Given the description of an element on the screen output the (x, y) to click on. 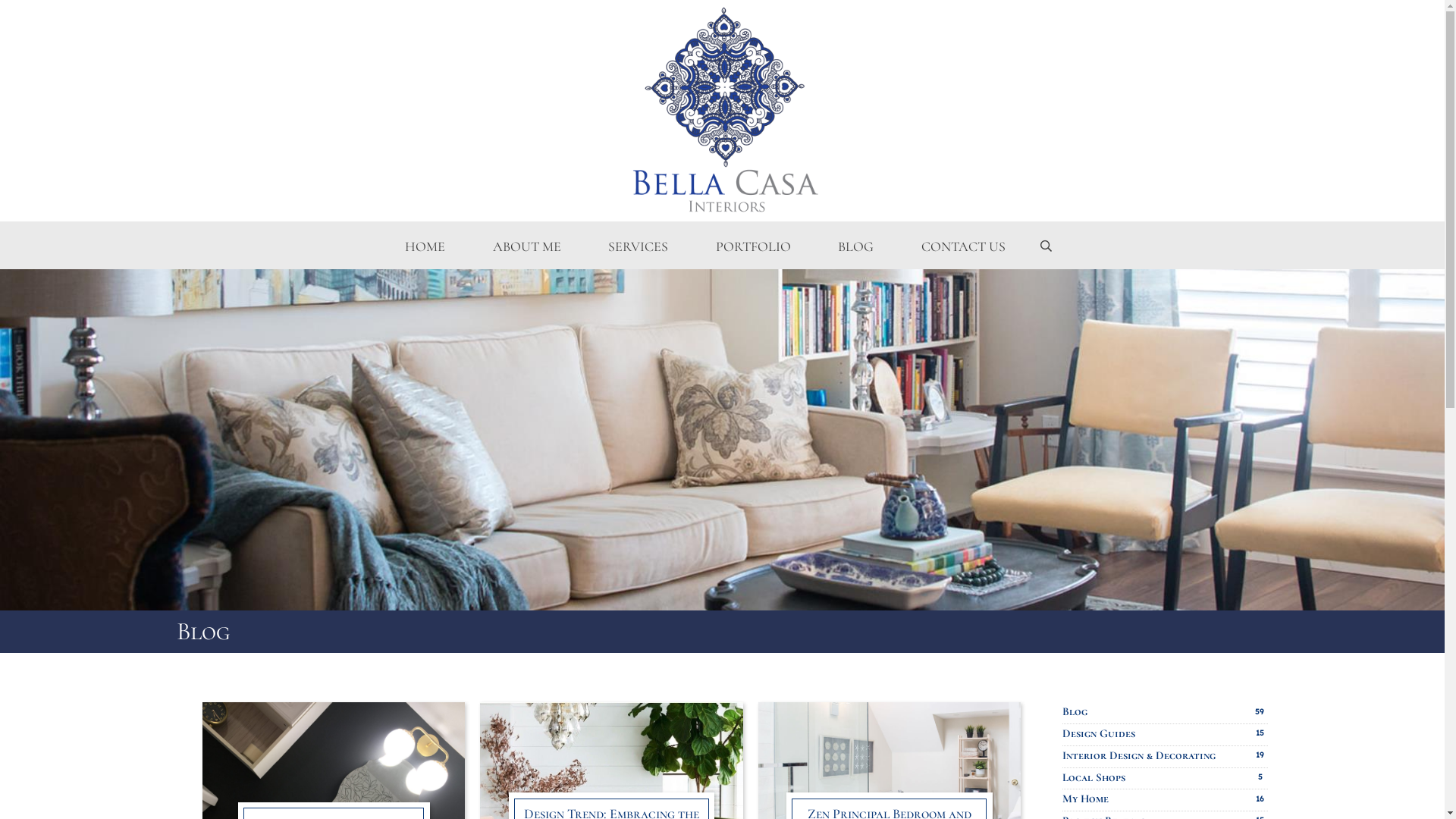
Interior Design & Decorating
19 Element type: text (1164, 756)
SERVICES Element type: text (638, 246)
Local Shops
5 Element type: text (1164, 778)
My Home
16 Element type: text (1164, 799)
HOME Element type: text (425, 246)
CONTACT US Element type: text (963, 246)
BLOG Element type: text (855, 246)
Blog
59 Element type: text (1164, 712)
Design Guides
15 Element type: text (1164, 734)
ABOUT ME Element type: text (526, 246)
PORTFOLIO Element type: text (752, 246)
